Given the description of an element on the screen output the (x, y) to click on. 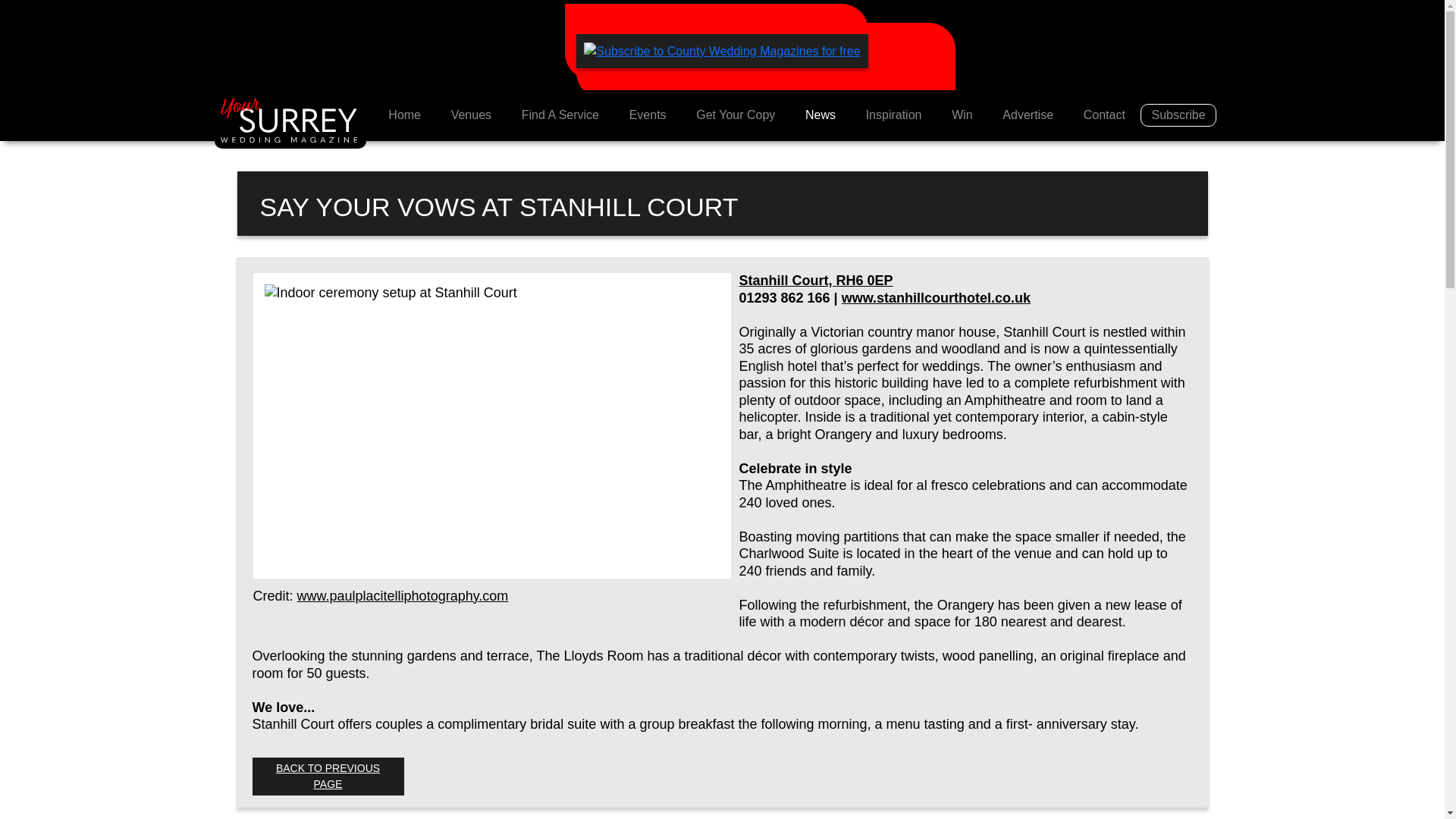
BACK TO PREVIOUS PAGE (327, 776)
Your Surrey Wedding (289, 121)
Inspiration (893, 114)
Events (647, 114)
Contact the team at Your Surrey Wedding magazine (1104, 114)
Back to previous page (327, 776)
Win (961, 114)
Advertise with Your Surrey Wedding magazine (1028, 114)
Subscribe to Your Surrey Wedding magazine for free (1178, 115)
